Given the description of an element on the screen output the (x, y) to click on. 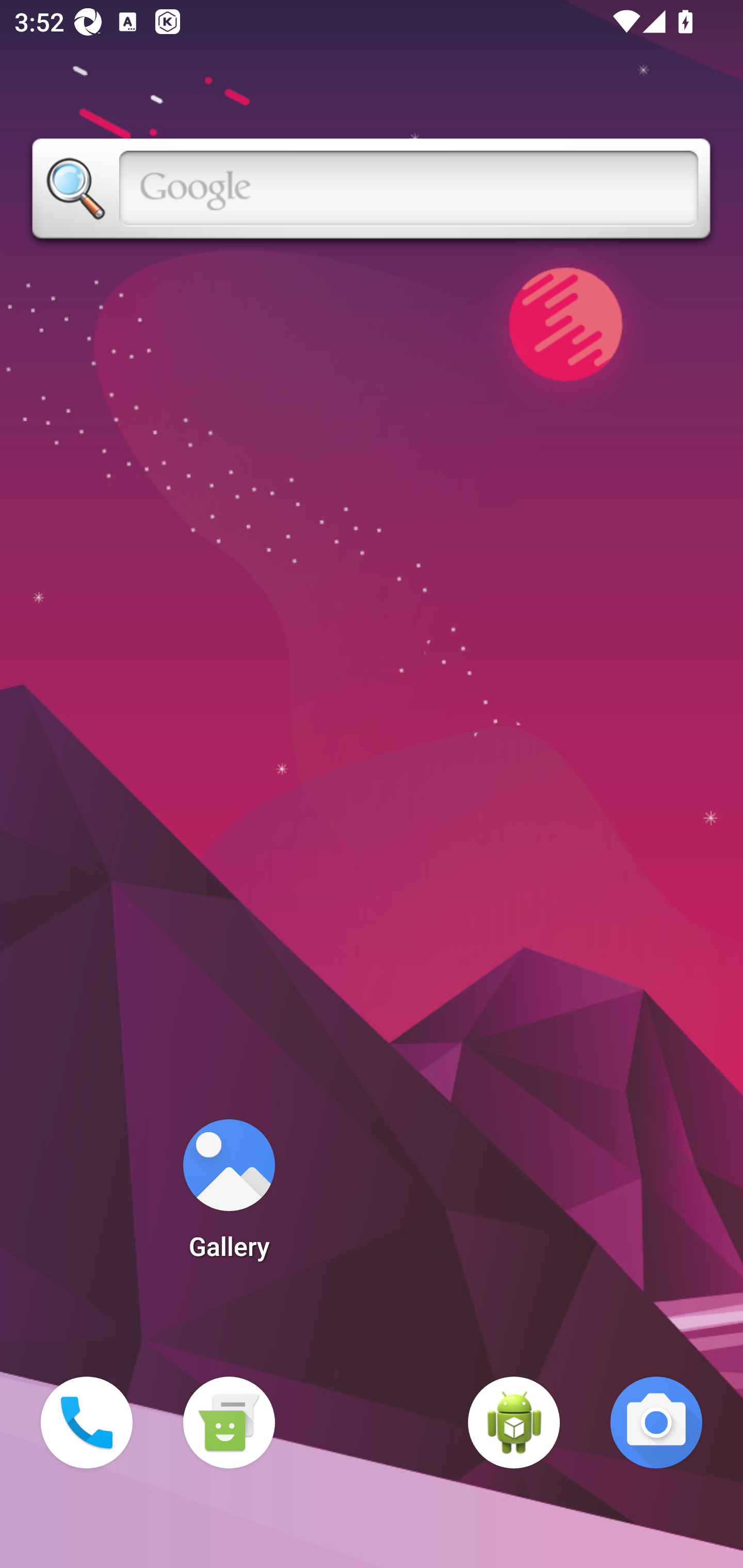
Gallery (228, 1195)
Phone (86, 1422)
Messaging (228, 1422)
WebView Browser Tester (513, 1422)
Camera (656, 1422)
